Given the description of an element on the screen output the (x, y) to click on. 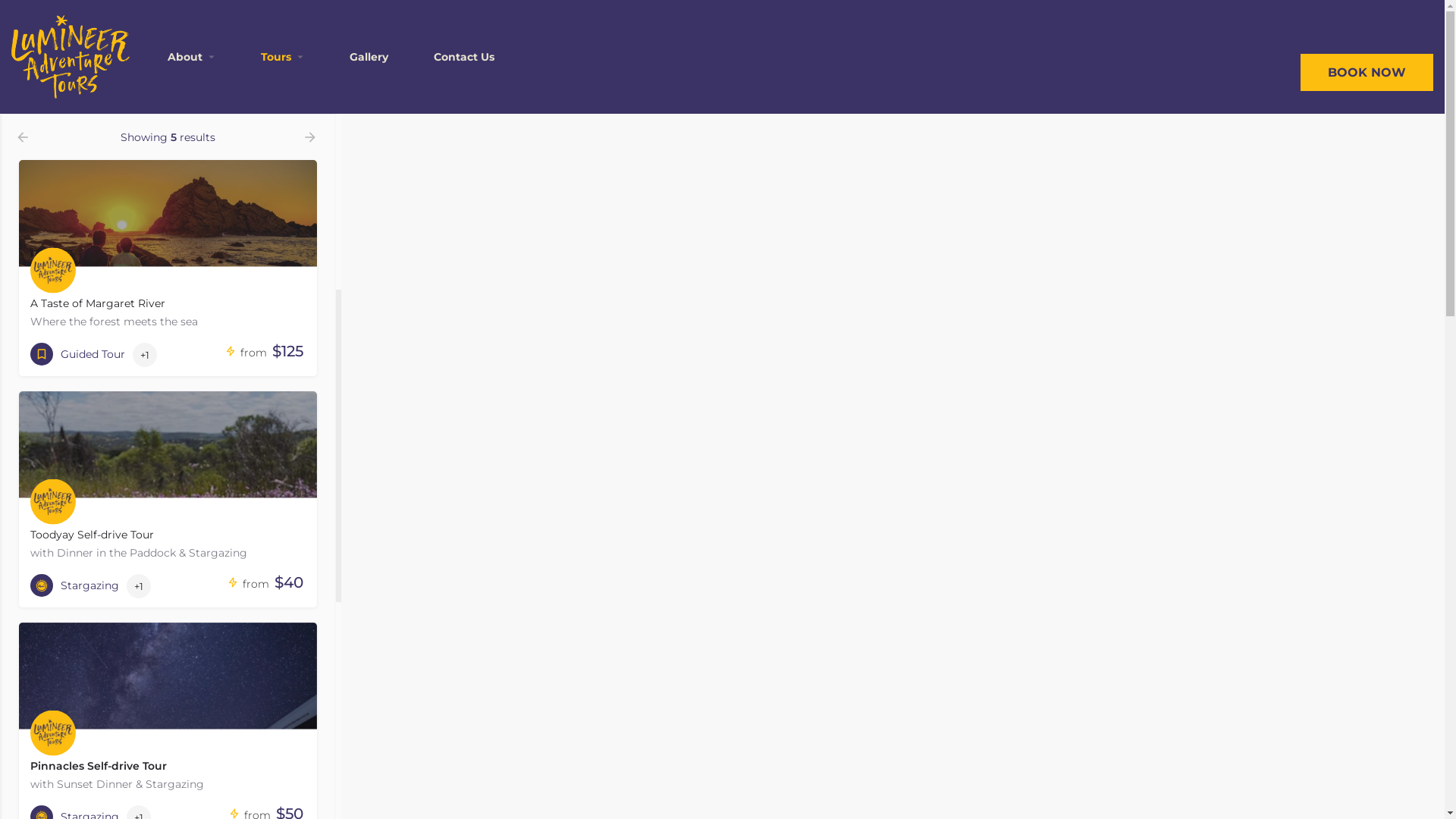
Search Element type: text (167, 35)
Stargazing Element type: text (74, 585)
Reset Filters Element type: text (167, 72)
Tours Element type: text (275, 56)
Contact Us Element type: text (463, 56)
Guided Tour Element type: text (77, 353)
About Element type: text (184, 56)
Pinnacles Self-drive Tour
with Sunset Dinner & Stargazing Element type: text (167, 709)
A Taste of Margaret River
Where the forest meets the sea Element type: text (167, 247)
Gallery Element type: text (368, 56)
BOOK NOW Element type: text (1366, 71)
